Given the description of an element on the screen output the (x, y) to click on. 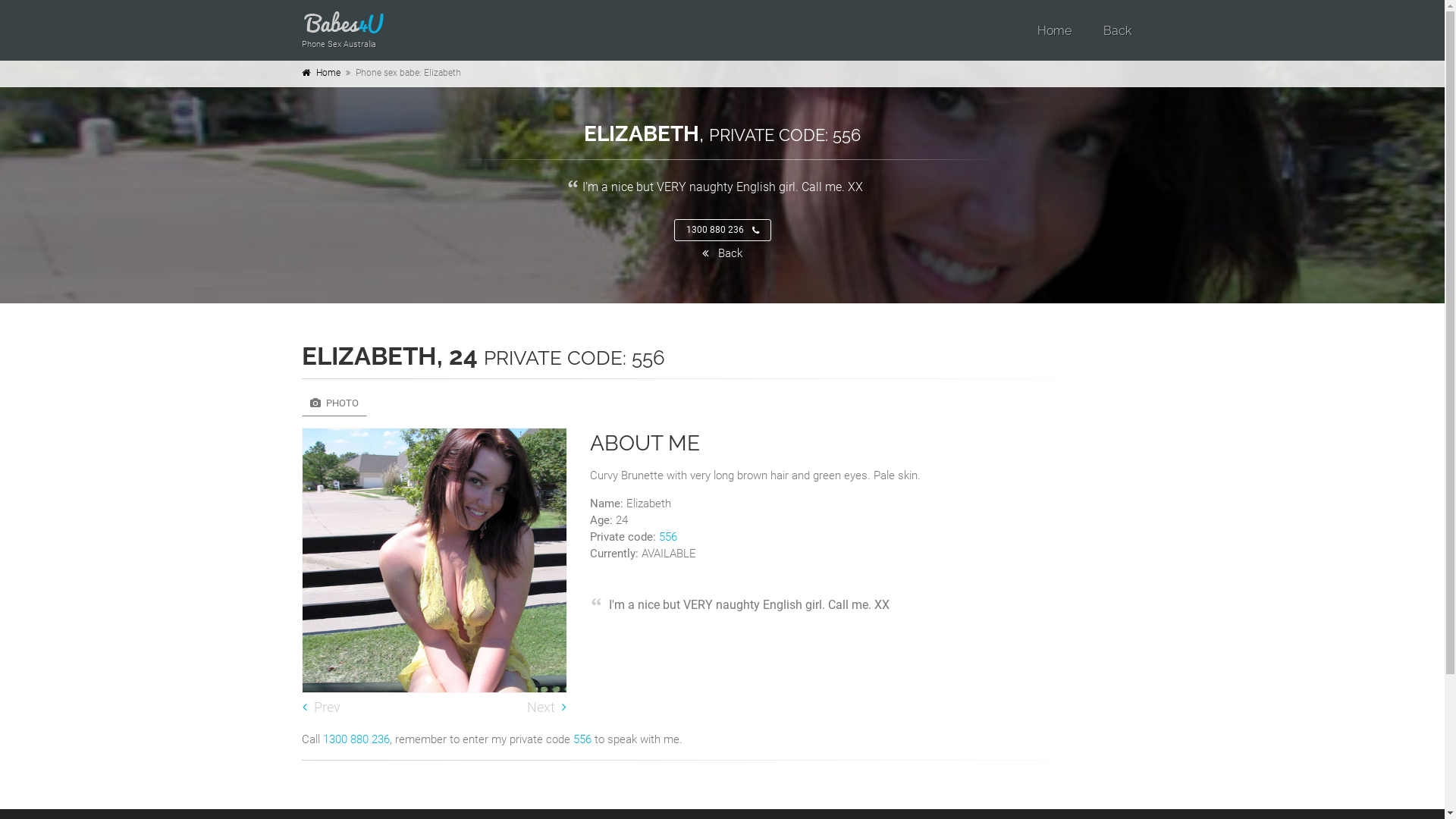
2 Element type: text (439, 679)
1 Element type: text (427, 679)
Home Element type: text (327, 72)
Back Element type: text (1116, 30)
PHOTO Element type: text (334, 402)
Prev Element type: text (322, 707)
Next Element type: text (543, 707)
Home Element type: text (1054, 30)
1300 880 236 Element type: text (721, 229)
Back Element type: text (722, 253)
